Given the description of an element on the screen output the (x, y) to click on. 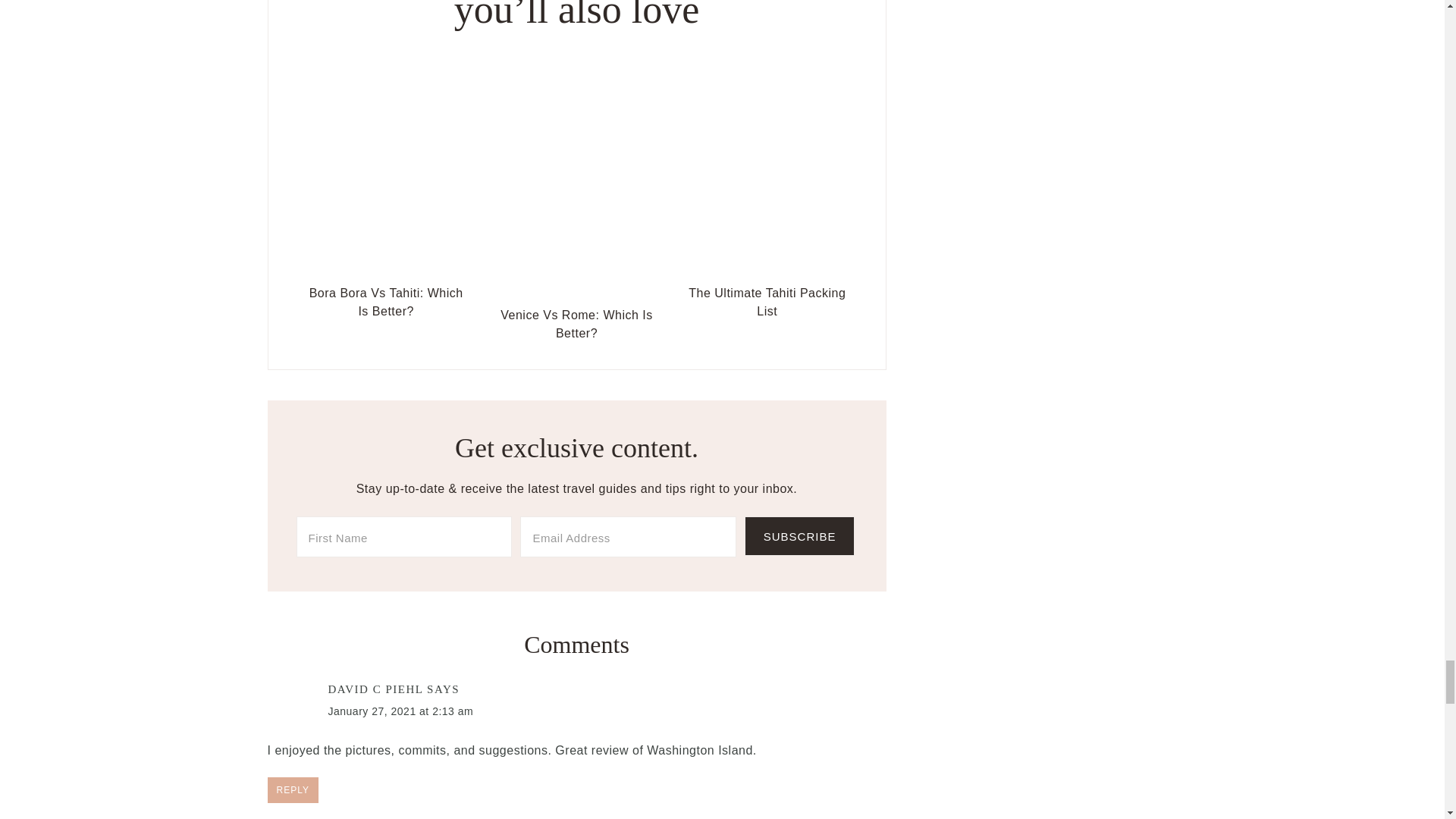
Permanent Link to Bora Bora Vs Tahiti: Which Is Better? (386, 269)
Permanent Link to Bora Bora Vs Tahiti: Which Is Better? (386, 302)
Permanent Link to The Ultimate Tahiti Packing List (767, 269)
Subscribe (798, 536)
Permanent Link to Venice Vs Rome: Which Is Better? (576, 291)
Permanent Link to Venice Vs Rome: Which Is Better? (576, 324)
